Given the description of an element on the screen output the (x, y) to click on. 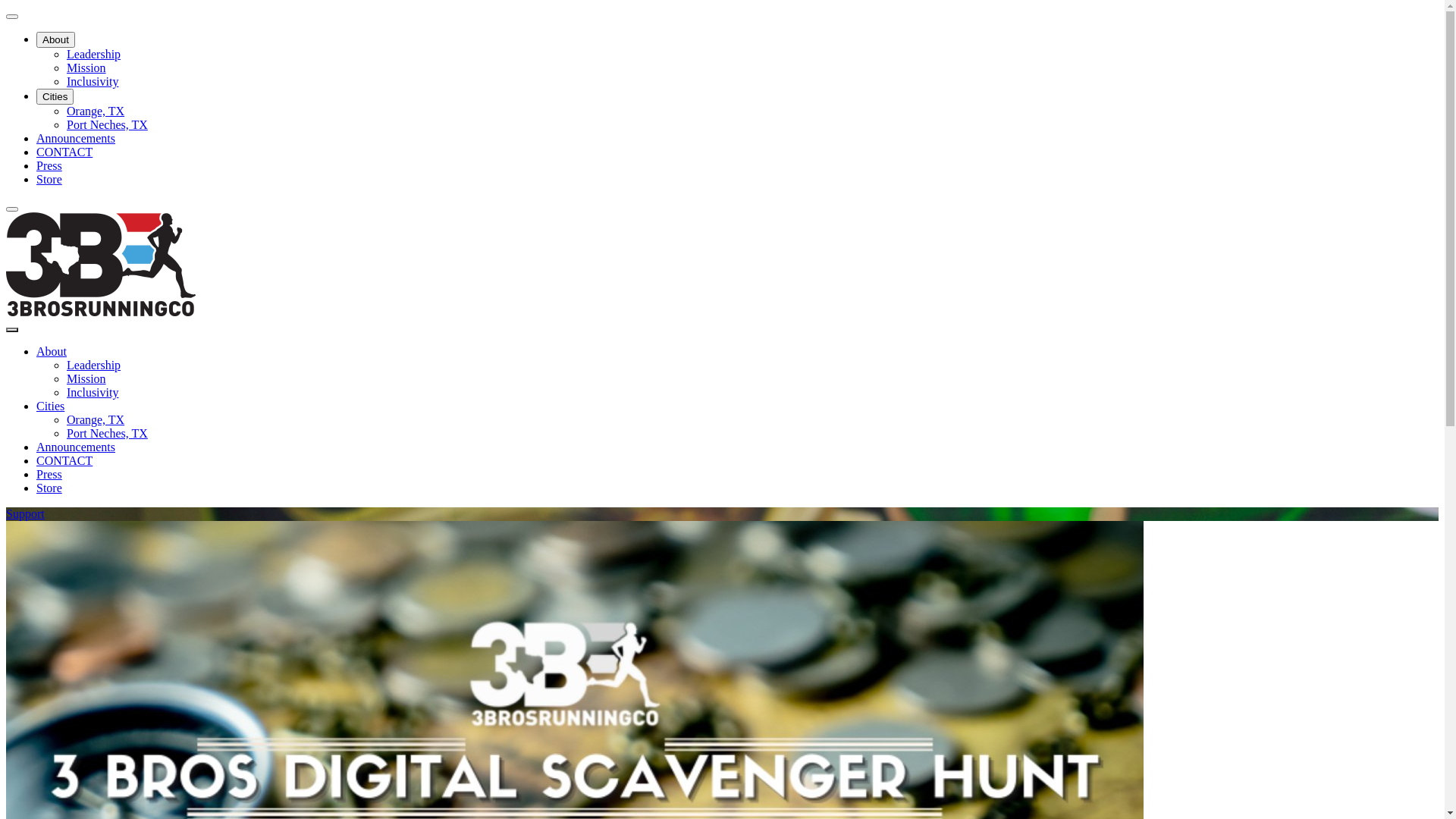
About Element type: text (55, 39)
Orange, TX Element type: text (95, 419)
Inclusivity Element type: text (92, 81)
Announcements Element type: text (75, 446)
Orange, TX Element type: text (95, 110)
Cities Element type: text (54, 96)
Inclusivity Element type: text (92, 391)
Press Element type: text (49, 473)
Leadership Element type: text (93, 53)
Cities Element type: text (50, 405)
About Element type: text (51, 351)
CONTACT Element type: text (64, 151)
Port Neches, TX Element type: text (106, 124)
Store Element type: text (49, 487)
Leadership Element type: text (93, 364)
Mission Element type: text (86, 378)
Store Element type: text (49, 178)
CONTACT Element type: text (64, 460)
Announcements Element type: text (75, 137)
Mission Element type: text (86, 67)
Press Element type: text (49, 165)
Support Element type: text (25, 513)
Port Neches, TX Element type: text (106, 432)
